Given the description of an element on the screen output the (x, y) to click on. 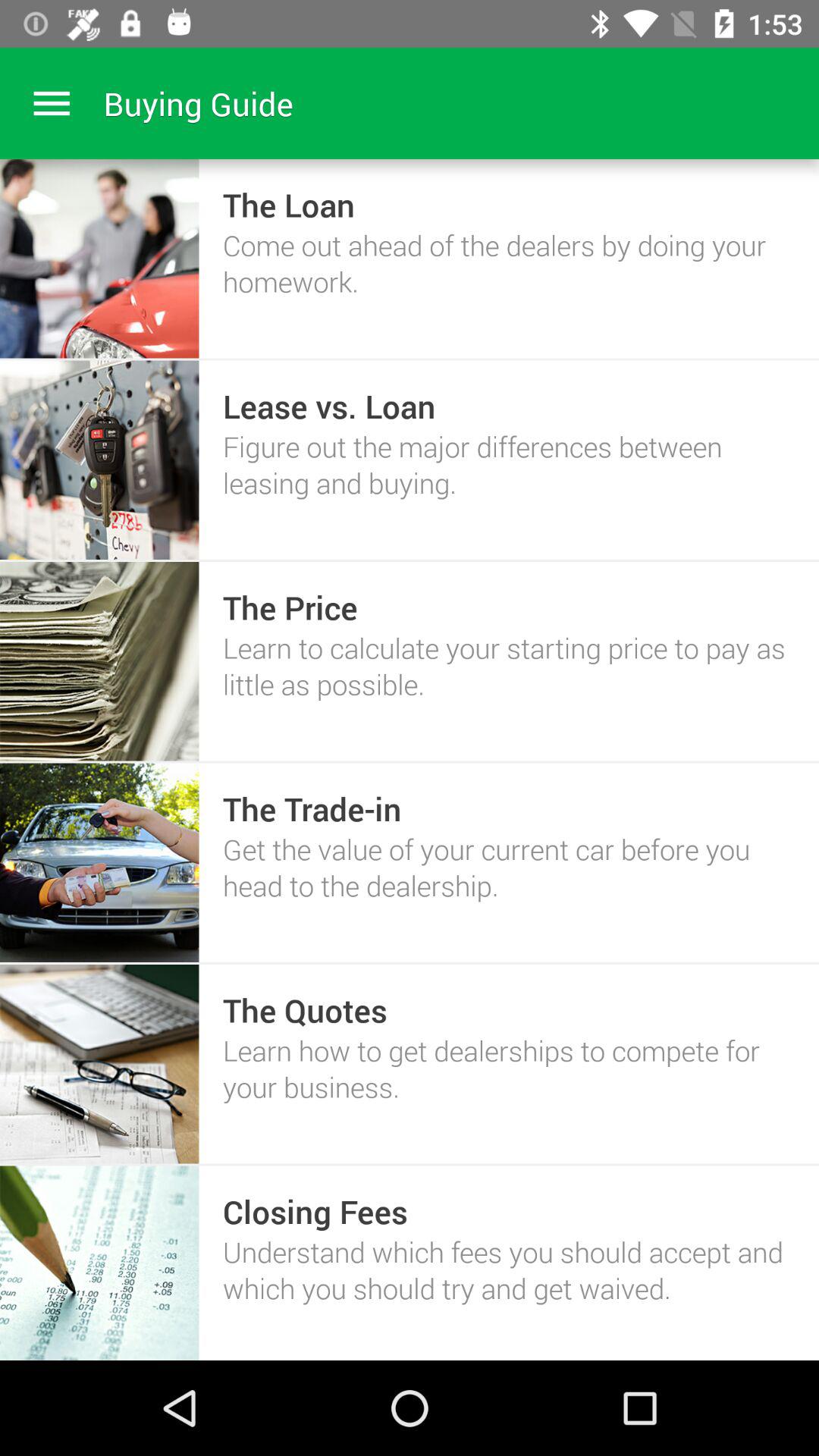
scroll to the come out ahead icon (508, 263)
